Given the description of an element on the screen output the (x, y) to click on. 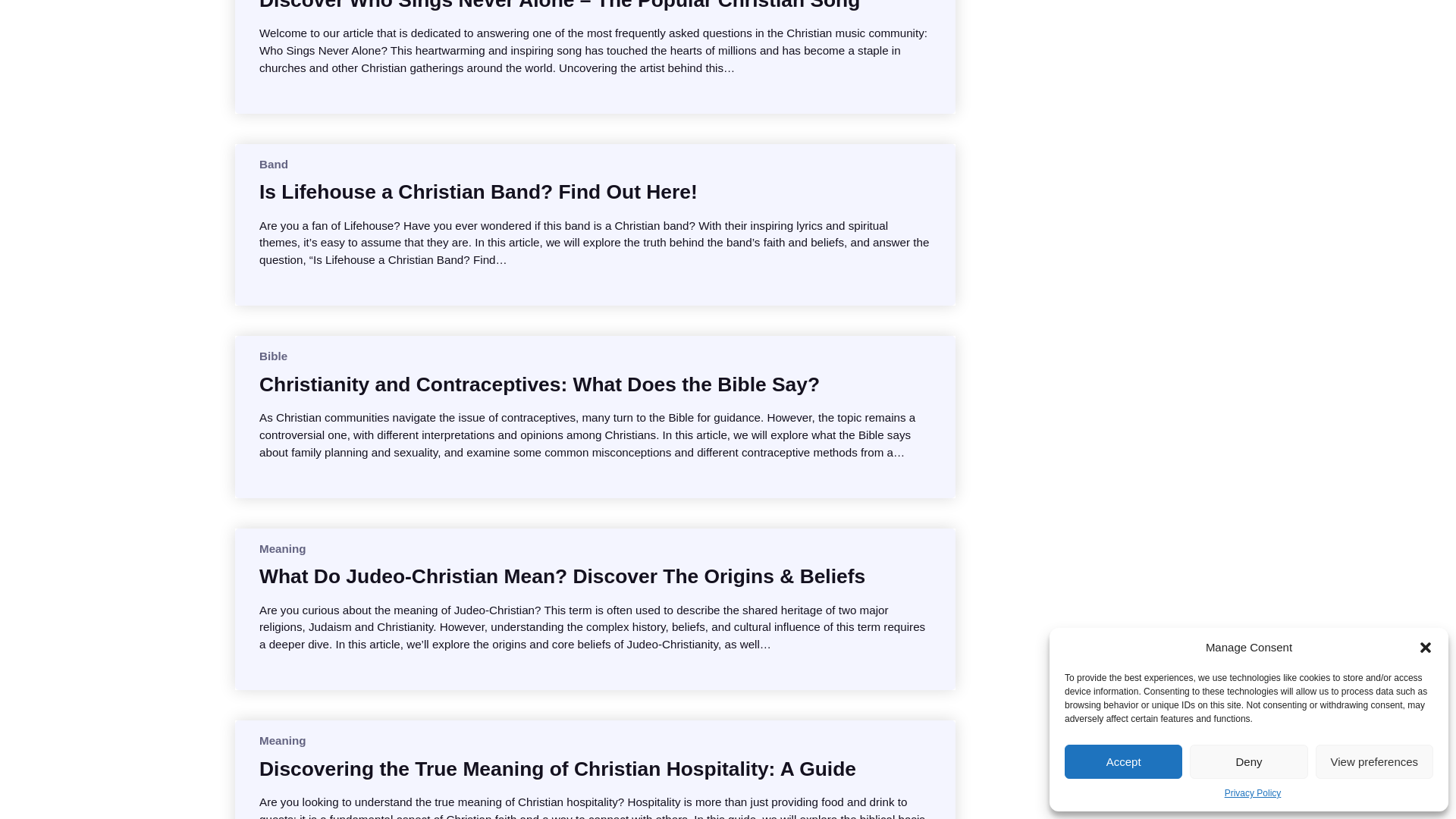
Bible (272, 355)
Meaning (282, 548)
Is Lifehouse a Christian Band? Find Out Here! (478, 191)
Meaning (282, 739)
Christianity and Contraceptives: What Does the Bible Say? (539, 384)
Band (273, 164)
